Given the description of an element on the screen output the (x, y) to click on. 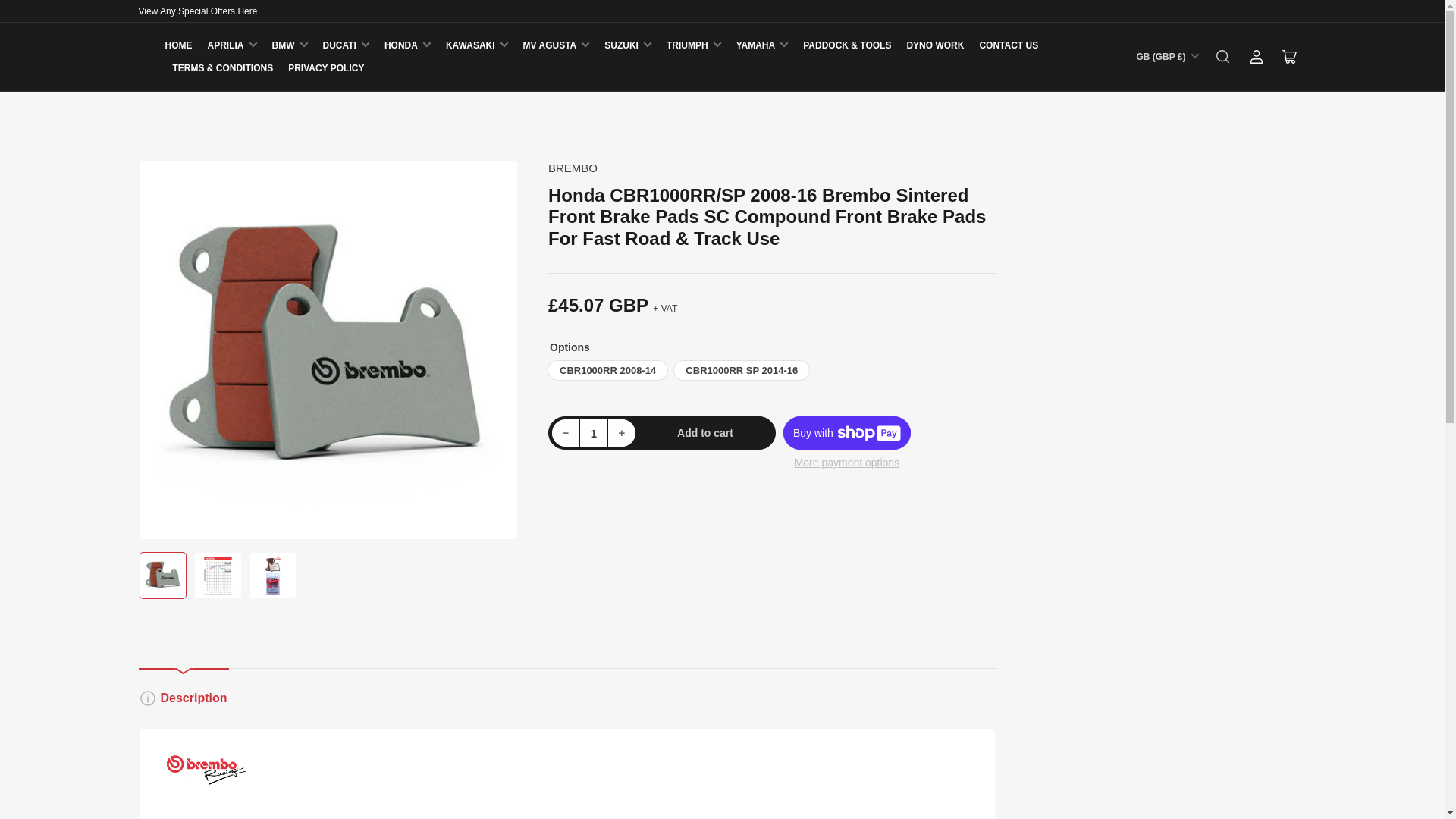
View Any Special Offers Here (197, 10)
BREMBO (572, 167)
HOME (178, 45)
APRILIA (232, 45)
1 (593, 432)
